Given the description of an element on the screen output the (x, y) to click on. 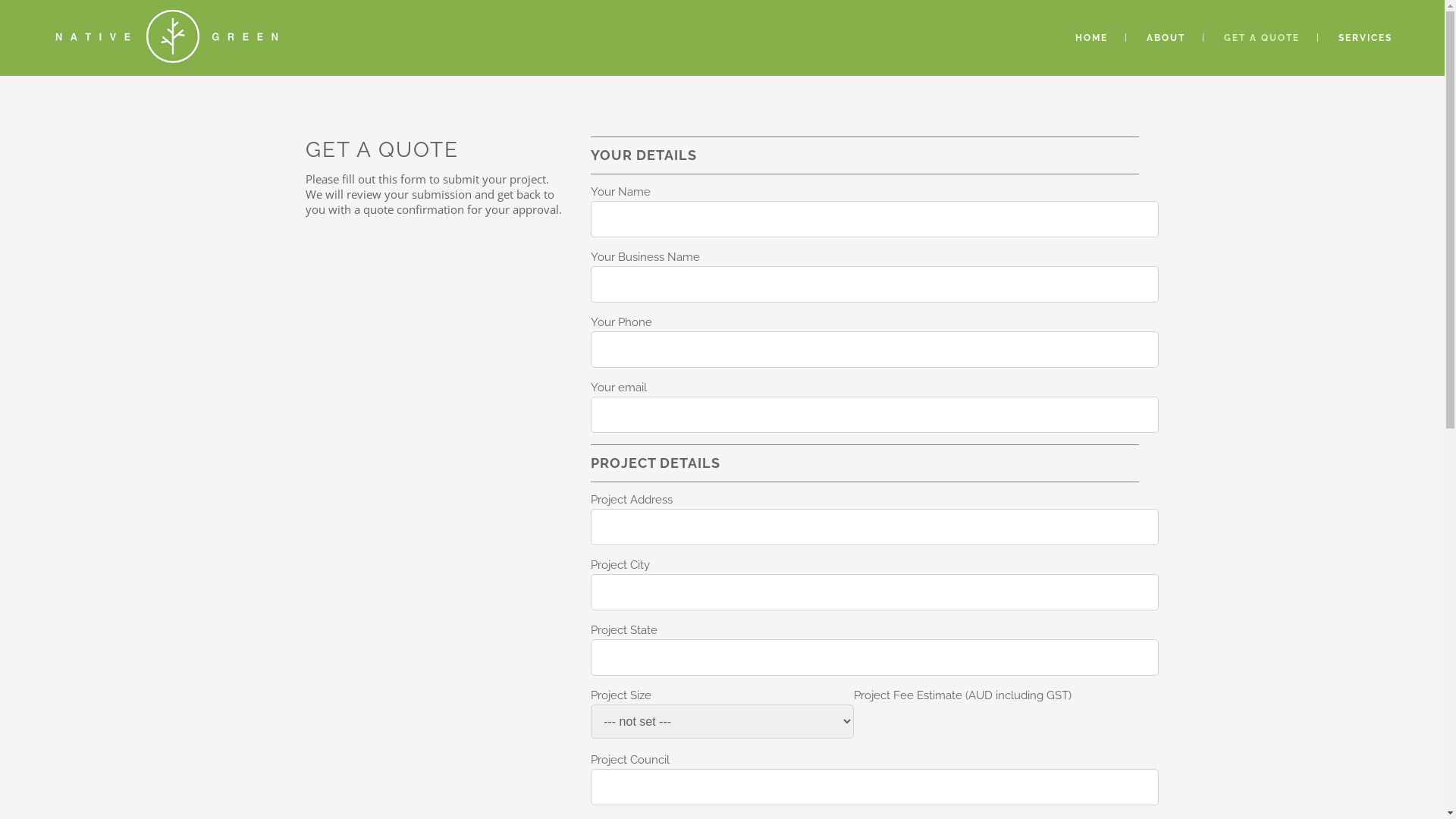
GET A QUOTE Element type: text (1261, 37)
ABOUT Element type: text (1165, 37)
HOME Element type: text (1091, 37)
SERVICES Element type: text (1365, 37)
